Given the description of an element on the screen output the (x, y) to click on. 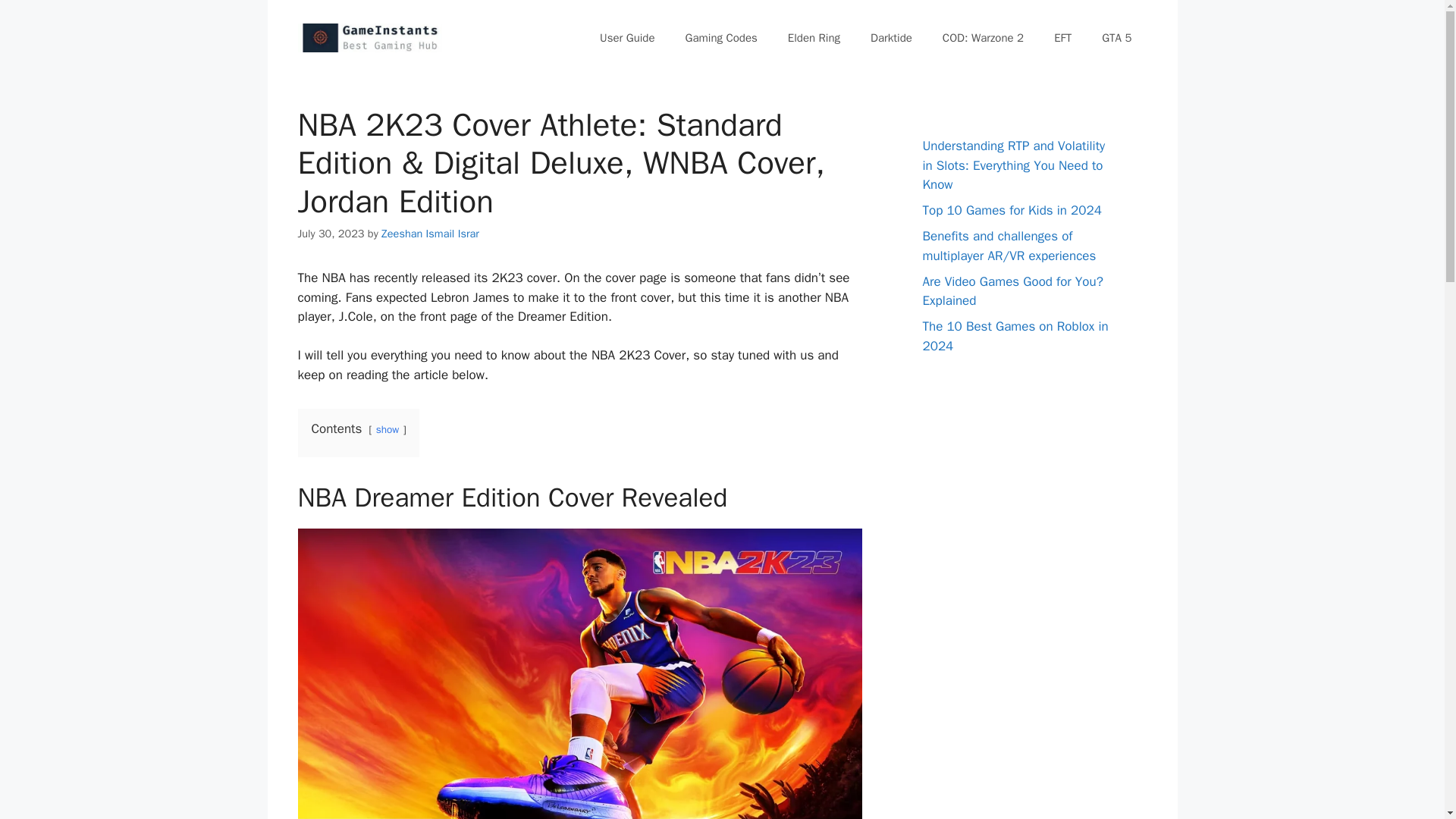
EFT (1062, 37)
Gaming Codes (721, 37)
Are Video Games Good for You? Explained (1011, 290)
View all posts by Zeeshan Ismail Israr (430, 233)
show (386, 429)
User Guide (627, 37)
Zeeshan Ismail Israr (430, 233)
GTA 5 (1116, 37)
COD: Warzone 2 (983, 37)
